Given the description of an element on the screen output the (x, y) to click on. 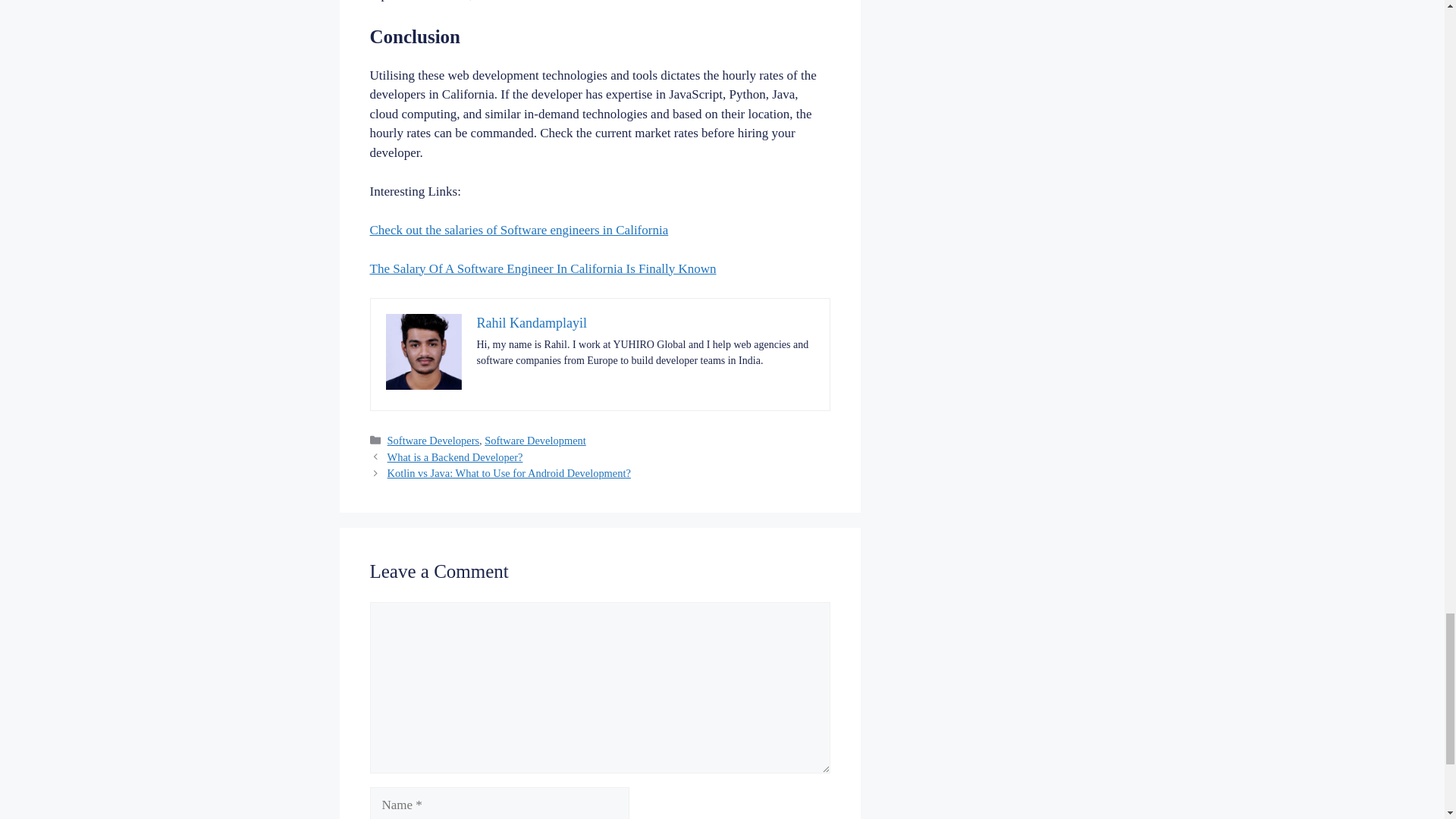
Kotlin vs Java: What to Use for Android Development? (508, 472)
Software Developers (433, 440)
Software Development (535, 440)
What is a Backend Developer? (454, 457)
Check out the salaries of Software engineers in California (518, 229)
Rahil Kandamplayil (531, 322)
